Given the description of an element on the screen output the (x, y) to click on. 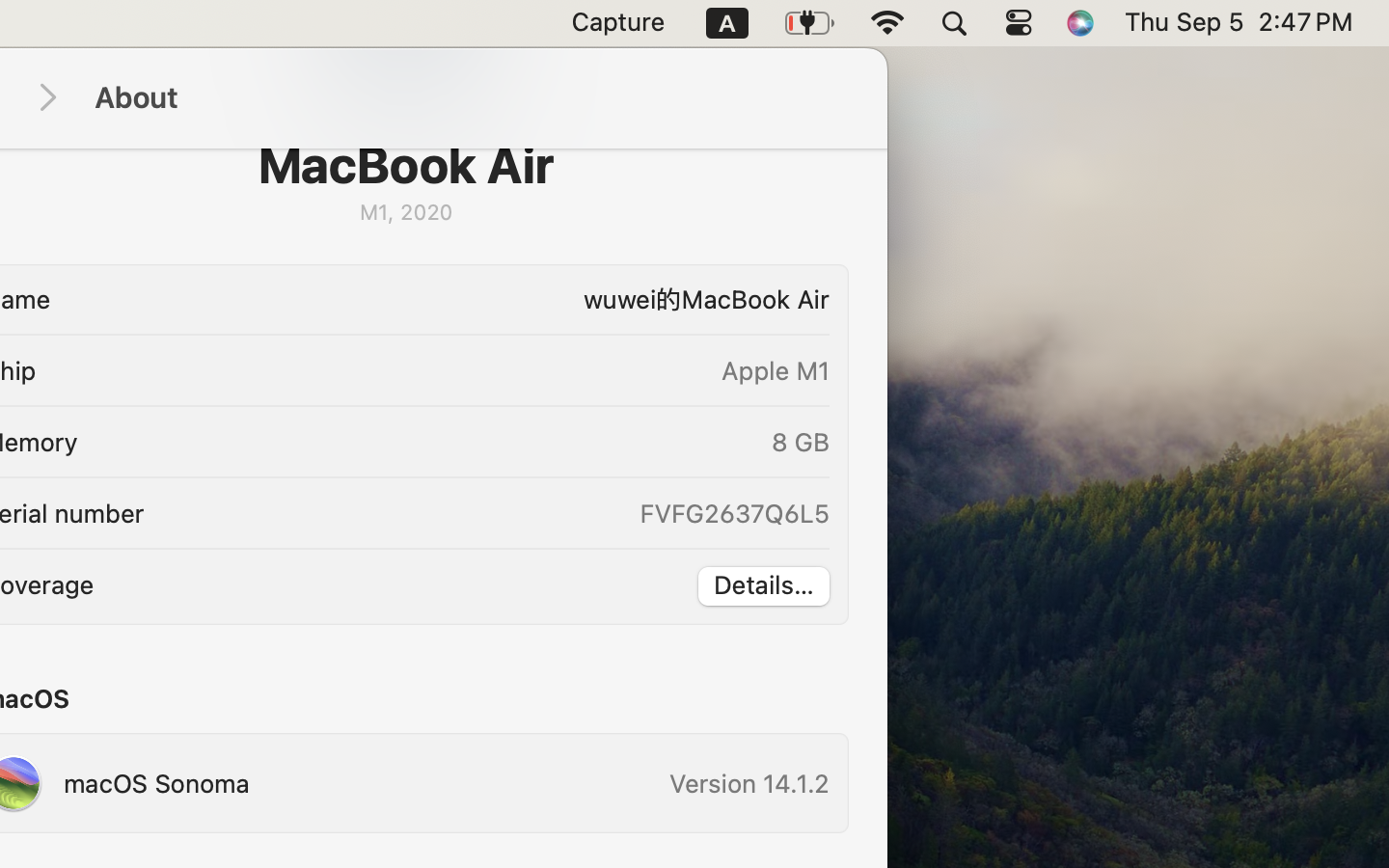
M1, 2020 Element type: AXStaticText (404, 211)
Version 14.1.2 Element type: AXStaticText (749, 782)
FVFG2637Q6L5 Element type: AXStaticText (732, 512)
8 GB Element type: AXStaticText (800, 441)
About Element type: AXStaticText (470, 98)
